Given the description of an element on the screen output the (x, y) to click on. 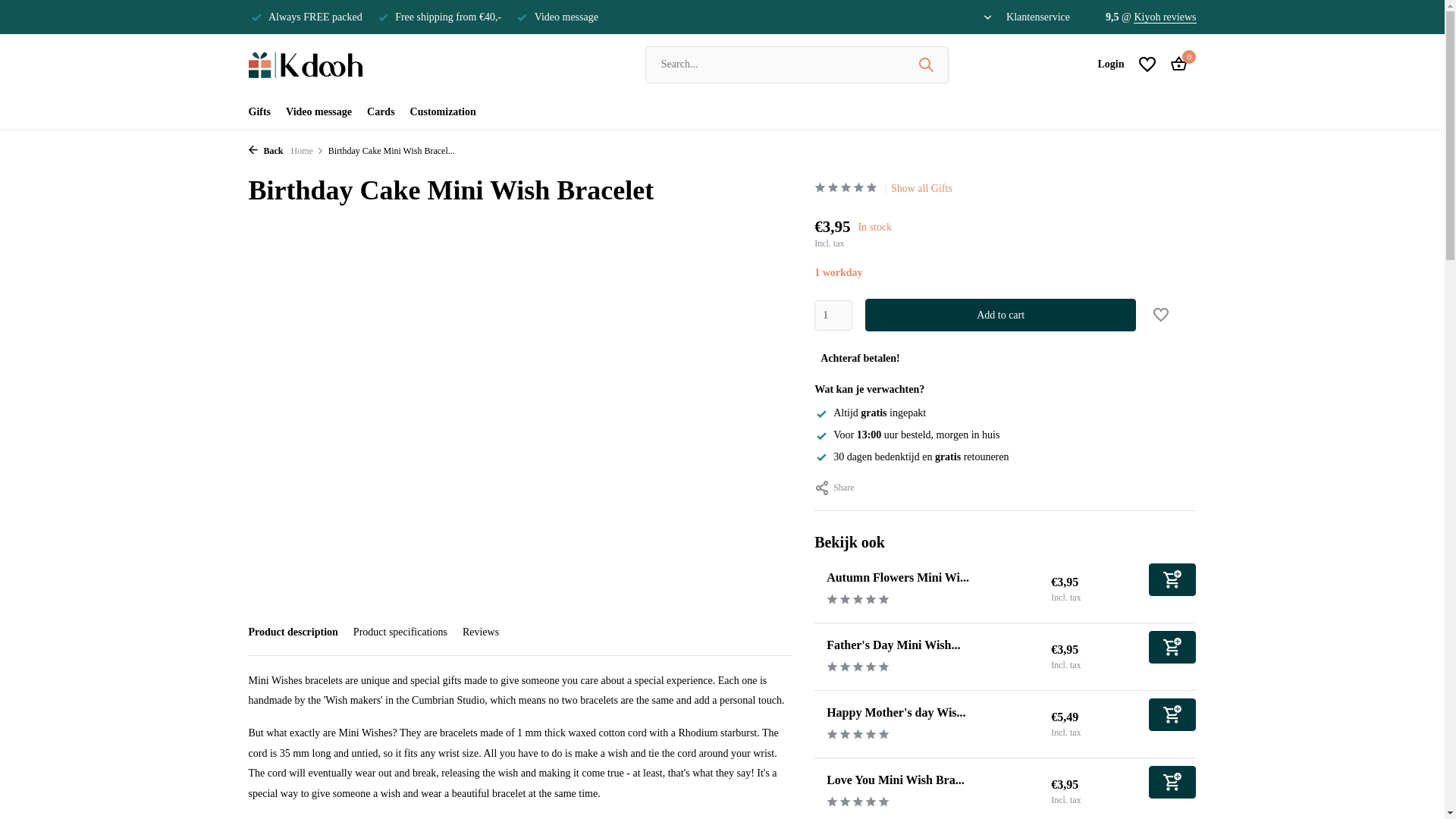
Search (925, 64)
Video message (318, 111)
Klantenservice (1038, 16)
Kdooh: Unique gifts (305, 64)
Kiyoh reviews (1164, 17)
1 (832, 315)
Login (1110, 64)
0 (1174, 63)
Wishlist (1147, 64)
